Given the description of an element on the screen output the (x, y) to click on. 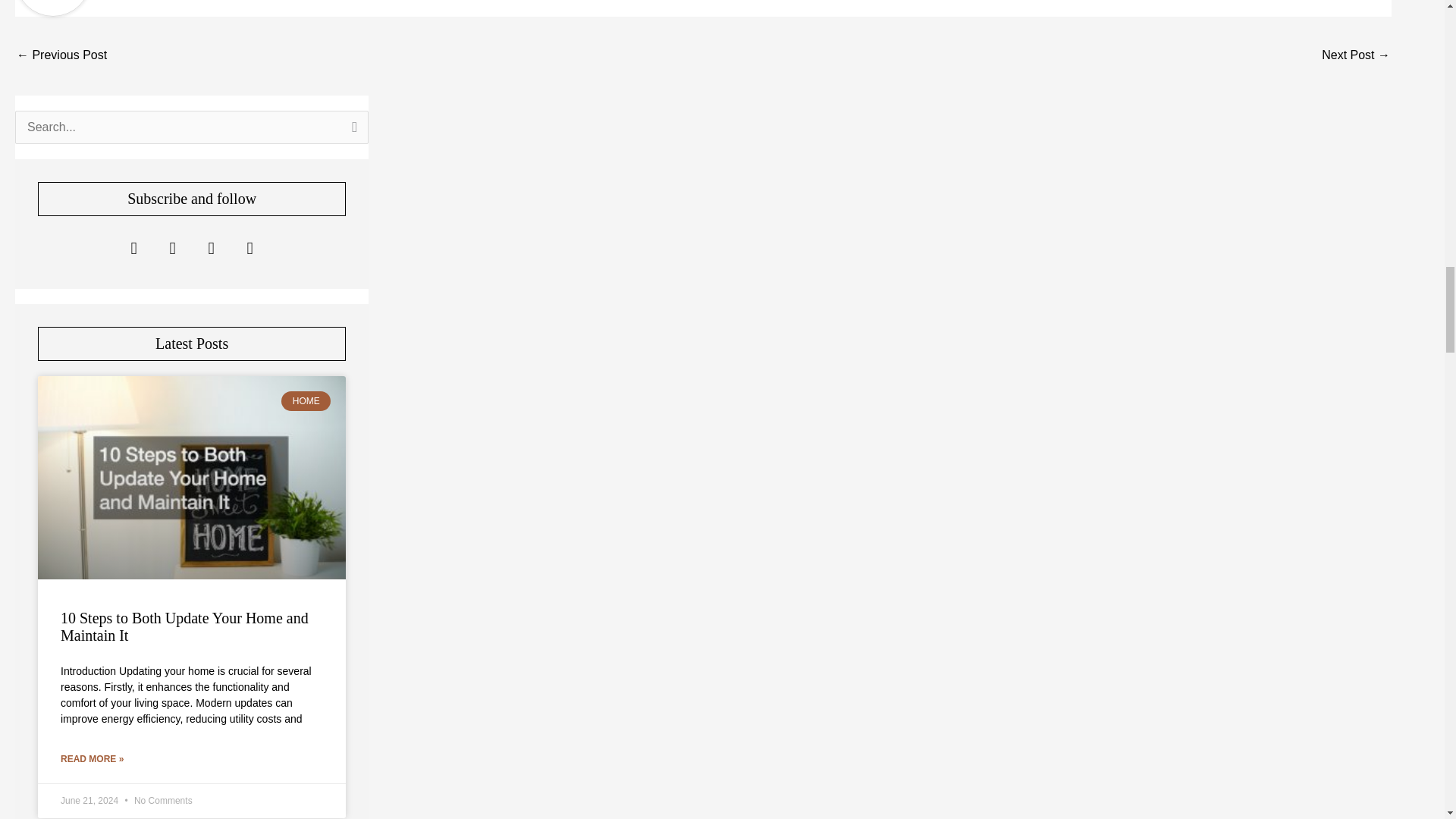
Weight Loss Starts from Home: How to Keep Off Weight (61, 56)
Facebook (133, 248)
Tumblr (249, 248)
Common Misconceptions About Glass Rooms (1356, 56)
10 Steps to Both Update Your Home and Maintain It (184, 626)
Google-plus (210, 248)
Twitter (172, 248)
